Given the description of an element on the screen output the (x, y) to click on. 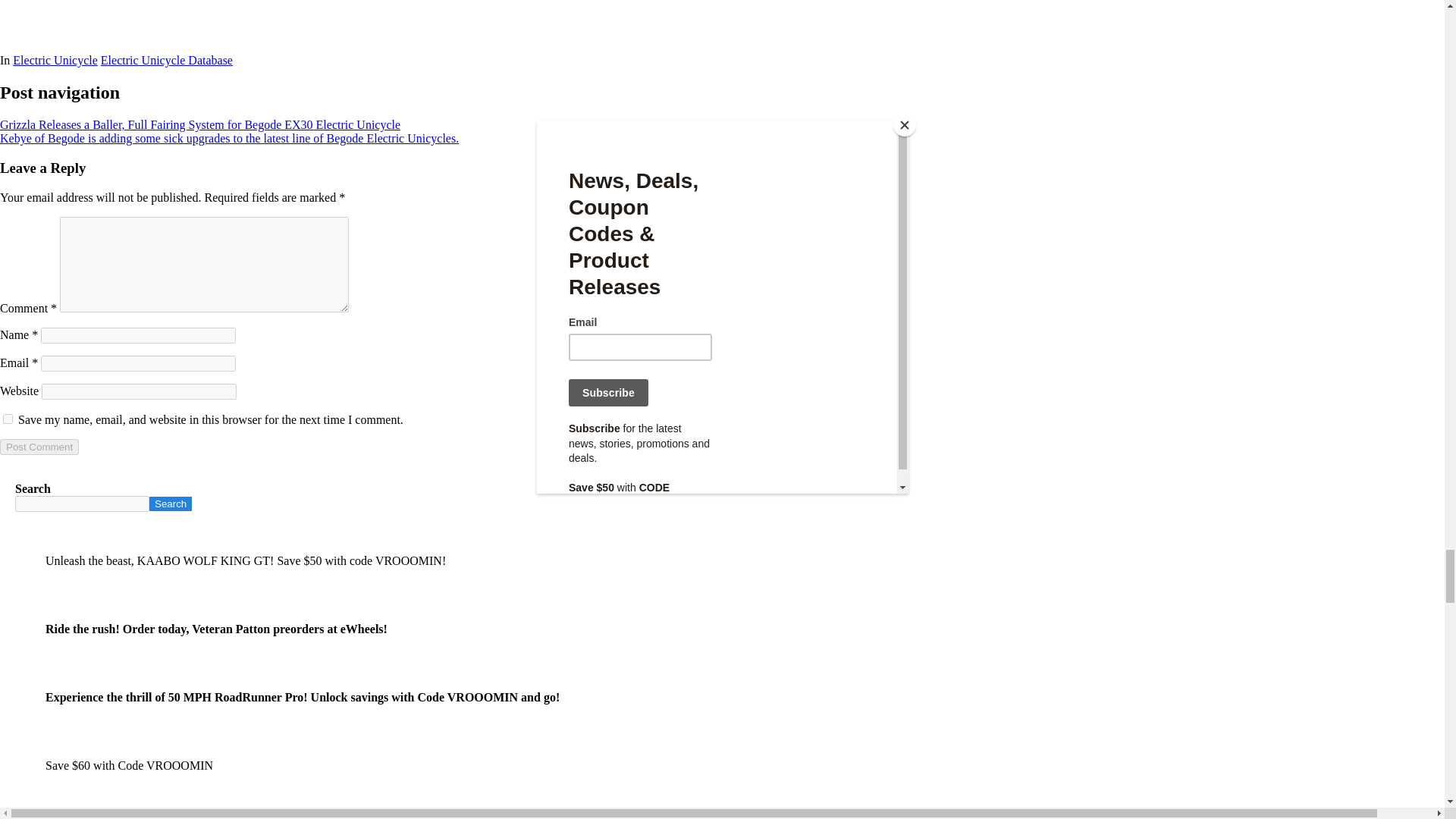
yes (7, 419)
Post Comment (39, 446)
